Given the description of an element on the screen output the (x, y) to click on. 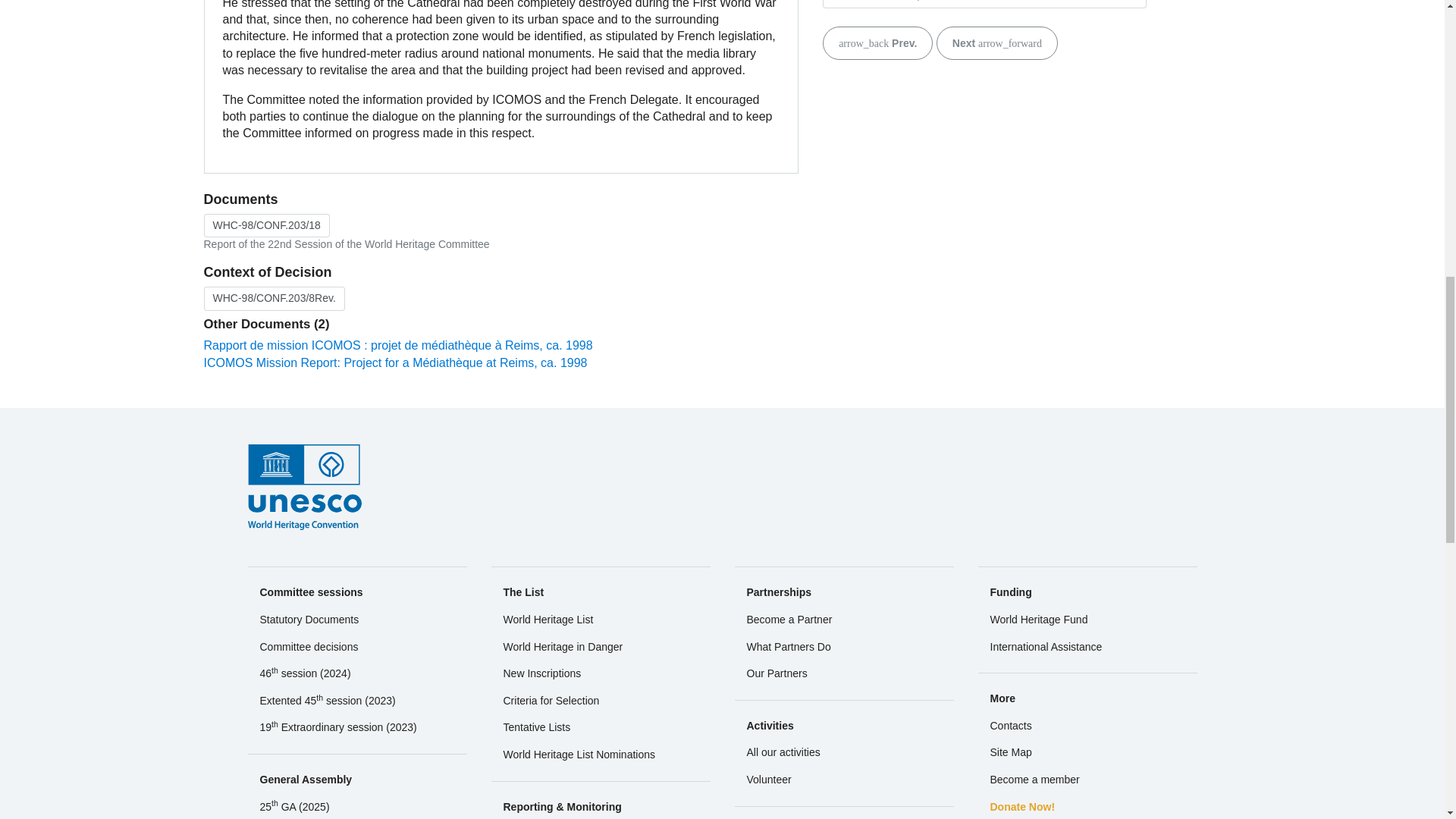
Report of the 22nd Session of the World Heritage Committee (266, 225)
